Given the description of an element on the screen output the (x, y) to click on. 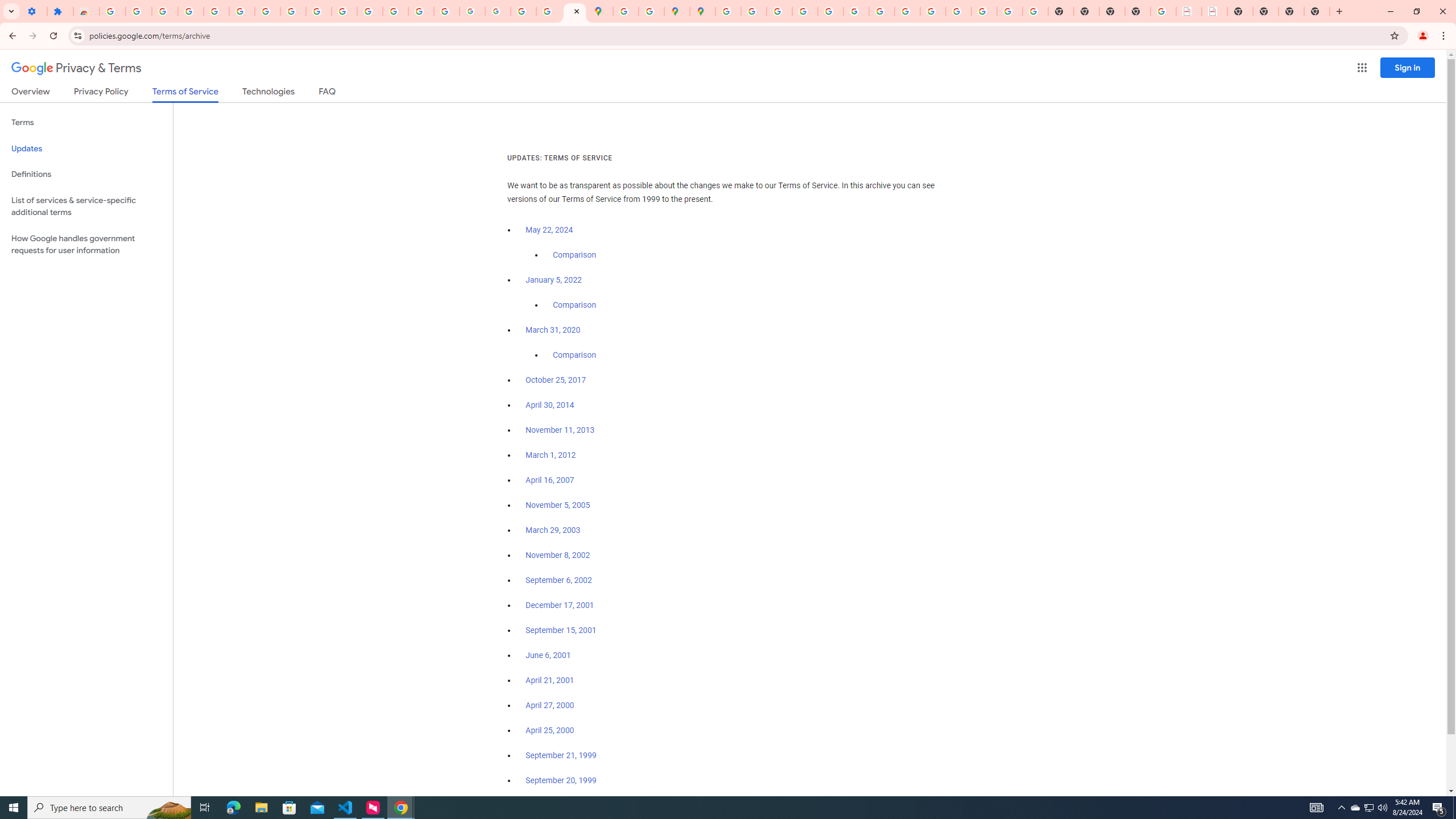
Google Account (293, 11)
https://scholar.google.com/ (369, 11)
March 1, 2012 (550, 455)
April 25, 2000 (550, 729)
September 21, 1999 (560, 755)
November 5, 2005 (557, 505)
Settings - On startup (34, 11)
May 22, 2024 (549, 230)
March 29, 2003 (552, 530)
November 11, 2013 (560, 430)
